Given the description of an element on the screen output the (x, y) to click on. 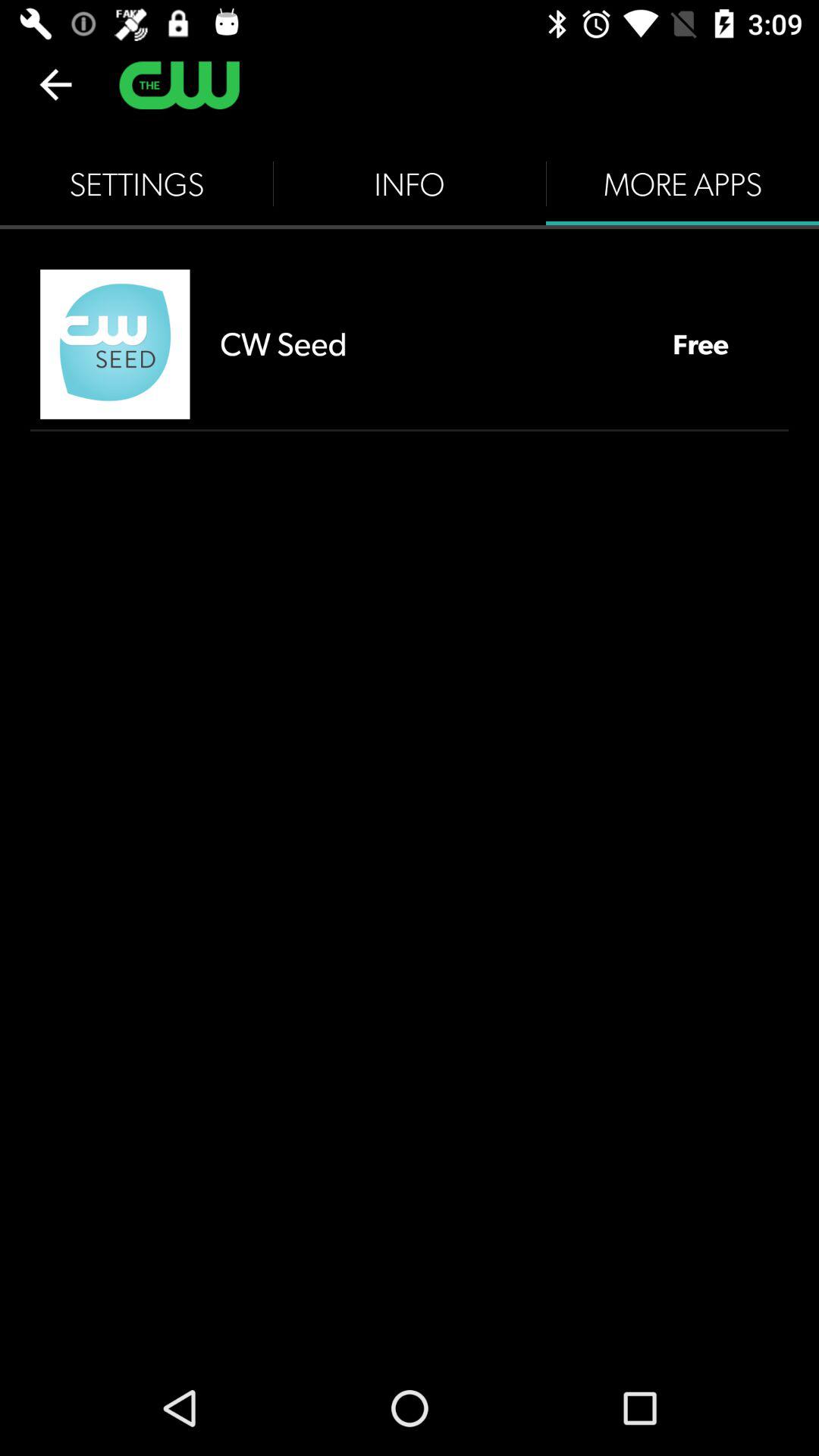
select the icon to the left of free (431, 343)
